Given the description of an element on the screen output the (x, y) to click on. 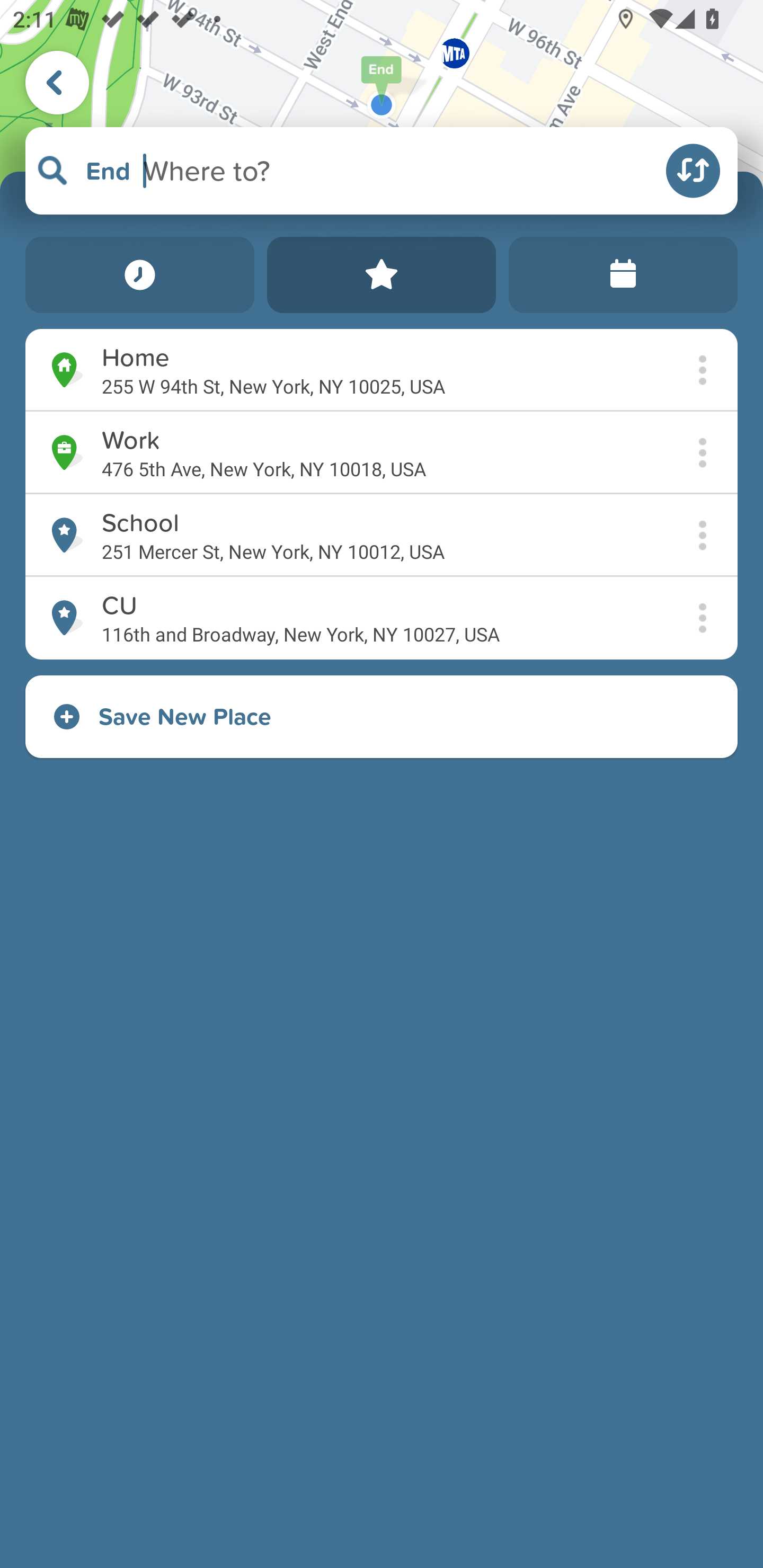
School 251 Mercer St, New York, NY 10012, USA (381, 535)
